Given the description of an element on the screen output the (x, y) to click on. 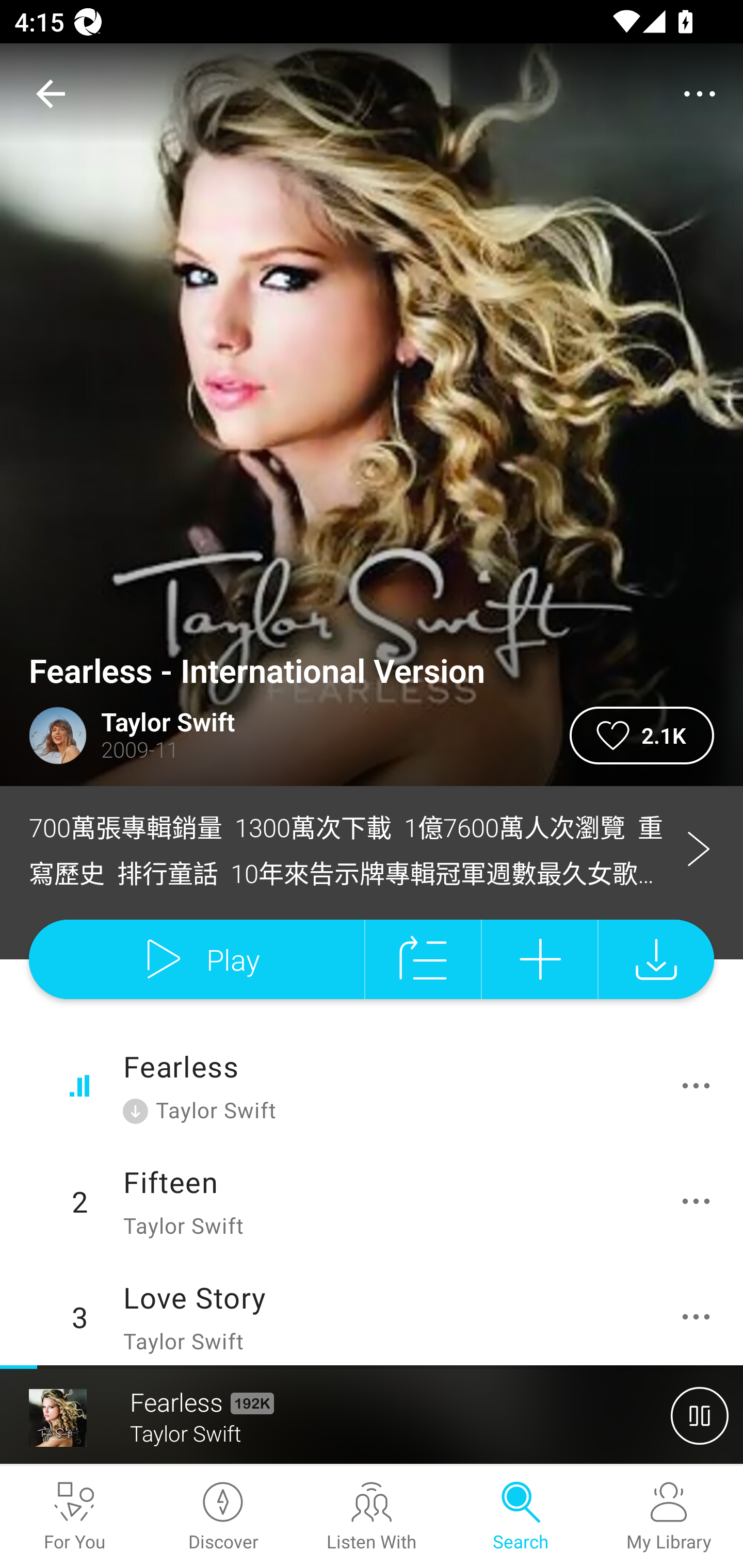
overflow (699, 93)
view_image Taylor Swift label_curator 2009-11 (284, 736)
2.1K button_subscription (641, 736)
Play (196, 959)
add to queue (422, 959)
加入至歌單 (539, 959)
下載歌曲至手機 (656, 959)
Fearless 已下載 Taylor Swift 更多操作選項 (371, 1085)
更多操作選項 (699, 1085)
2 Fifteen Taylor Swift 更多操作選項 (371, 1201)
更多操作選項 (699, 1201)
3 Love Story Taylor Swift 更多操作選項 (371, 1312)
更多操作選項 (699, 1317)
暫停播放 (699, 1415)
For You (74, 1517)
Discover (222, 1517)
Listen With (371, 1517)
Search (519, 1517)
My Library (668, 1517)
